Given the description of an element on the screen output the (x, y) to click on. 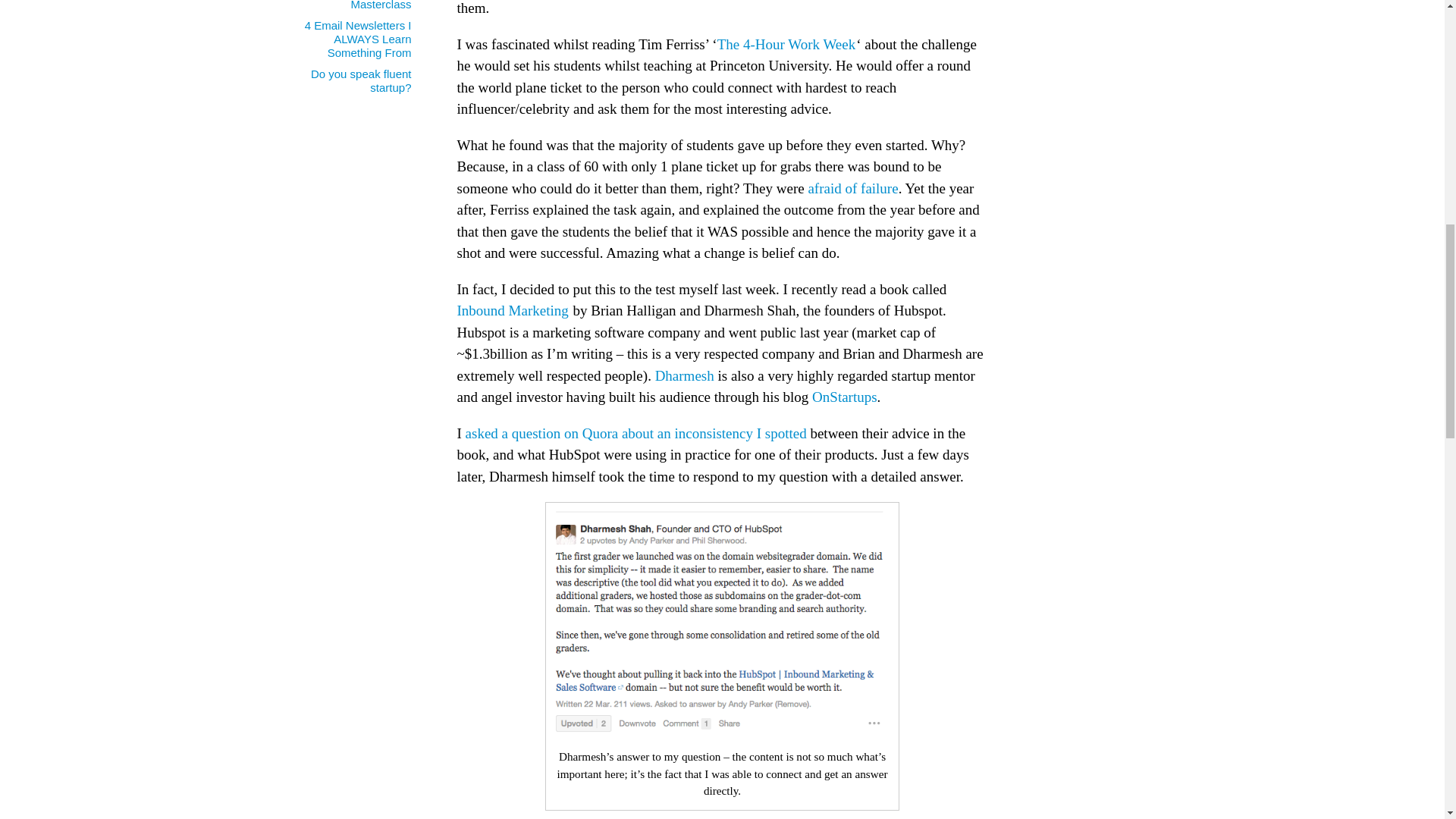
Getting Over Fear Of Failure (853, 188)
The 4-Hour Work Week (786, 44)
OnStartups (844, 396)
Inbound Marketing (512, 310)
Dharmesh (684, 375)
afraid of failure (853, 188)
asked a question on Quora about an inconsistency I spotted (635, 433)
